Given the description of an element on the screen output the (x, y) to click on. 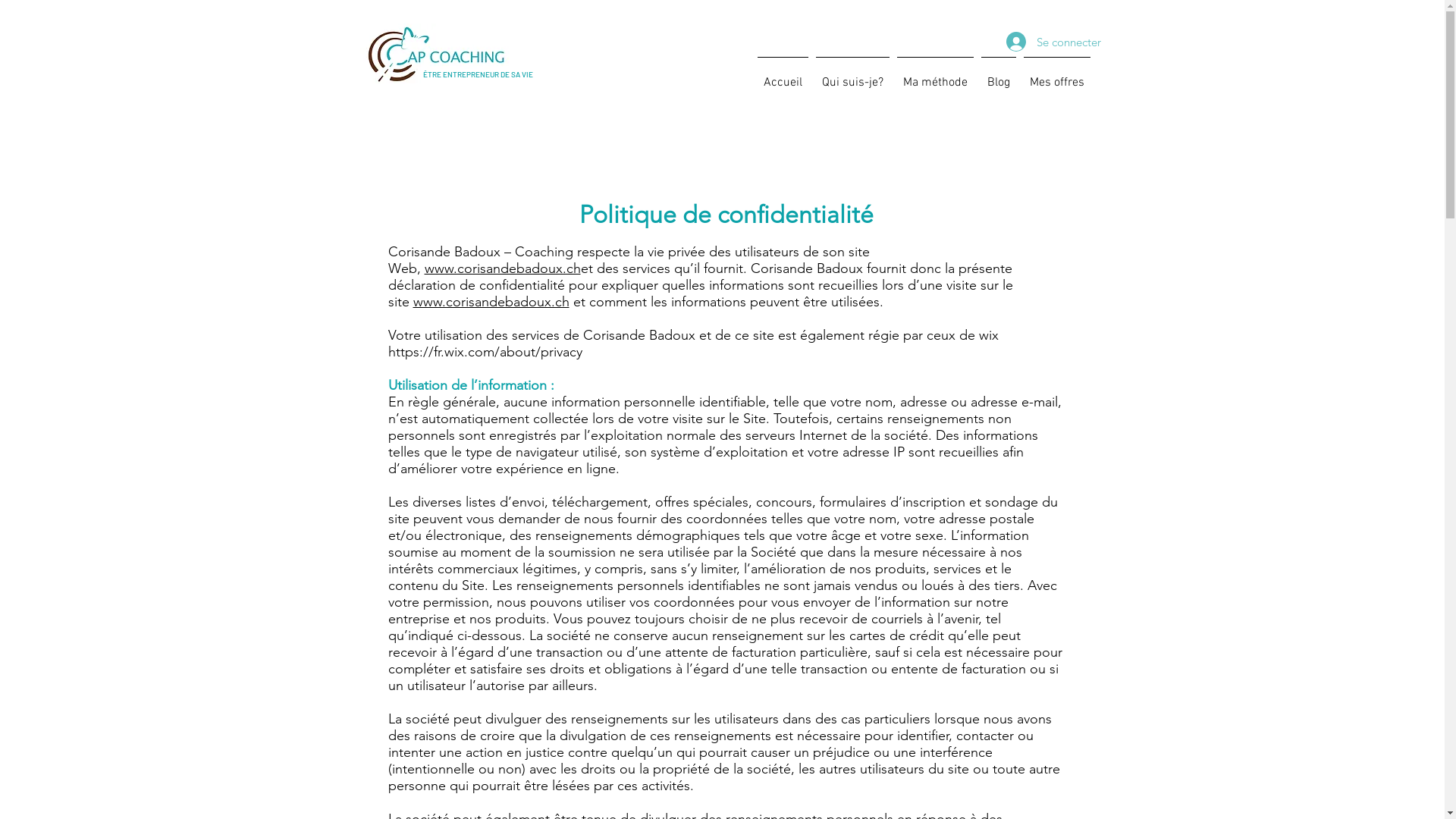
Qui suis-je? Element type: text (851, 75)
https://fr.wix.com/about/privacy Element type: text (485, 351)
www.corisandebadoux.ch Element type: text (502, 268)
Blog Element type: text (997, 75)
www.corisandebadoux.ch Element type: text (490, 301)
Se connecter Element type: text (1039, 41)
Mes offres Element type: text (1056, 75)
Accueil Element type: text (782, 75)
